Given the description of an element on the screen output the (x, y) to click on. 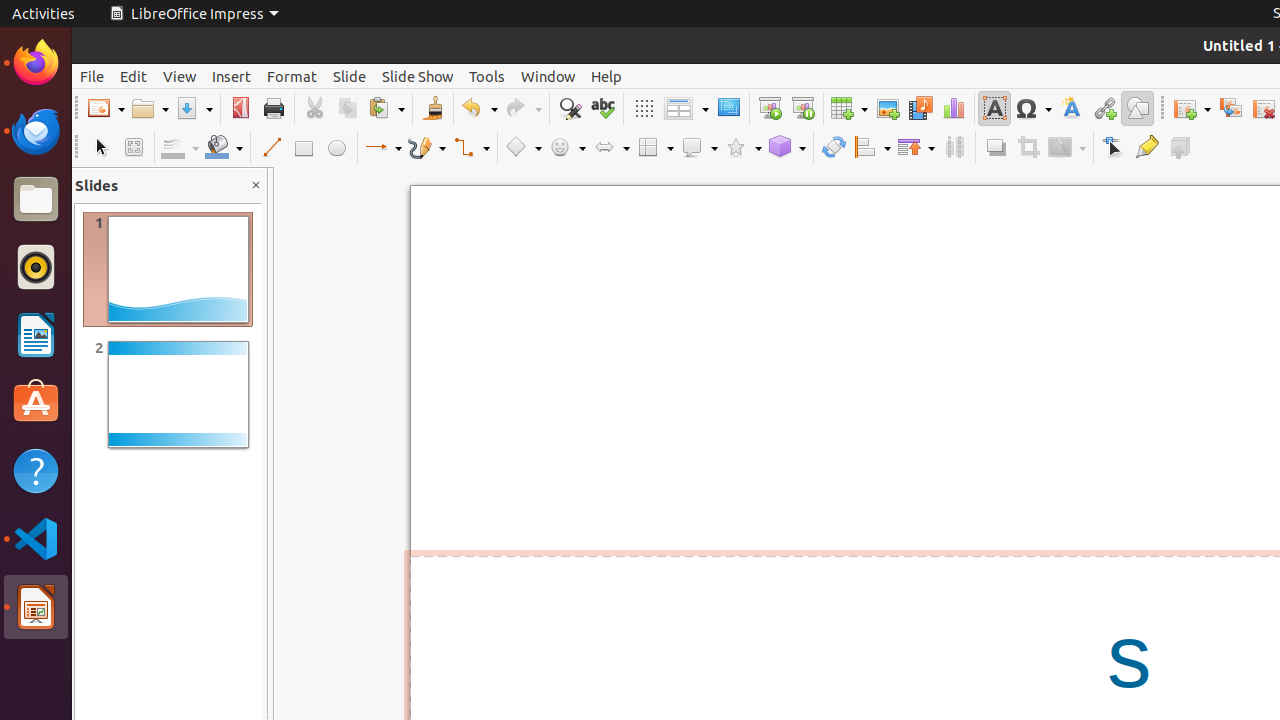
Crop Element type: push-button (1028, 147)
Start from Current Slide Element type: push-button (802, 108)
Fill Color Element type: push-button (224, 147)
Filter Element type: push-button (1067, 147)
New Element type: push-button (106, 108)
